Given the description of an element on the screen output the (x, y) to click on. 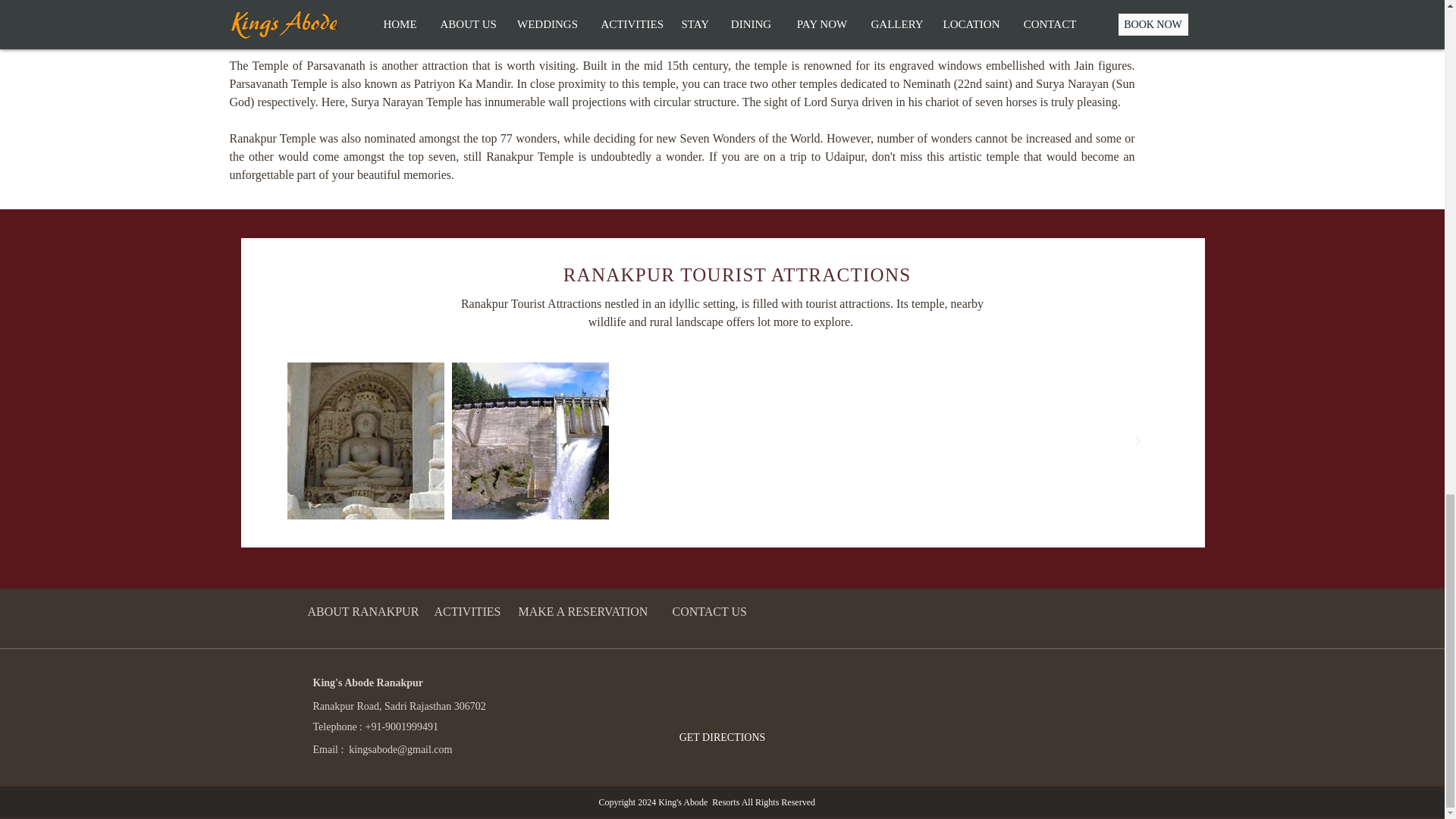
ACTIVITIES (466, 611)
ABOUT RANAKPUR (363, 611)
Wix Weather (738, 690)
GET DIRECTIONS (721, 737)
CONTACT US (708, 611)
MAKE A RESERVATION (582, 611)
